Given the description of an element on the screen output the (x, y) to click on. 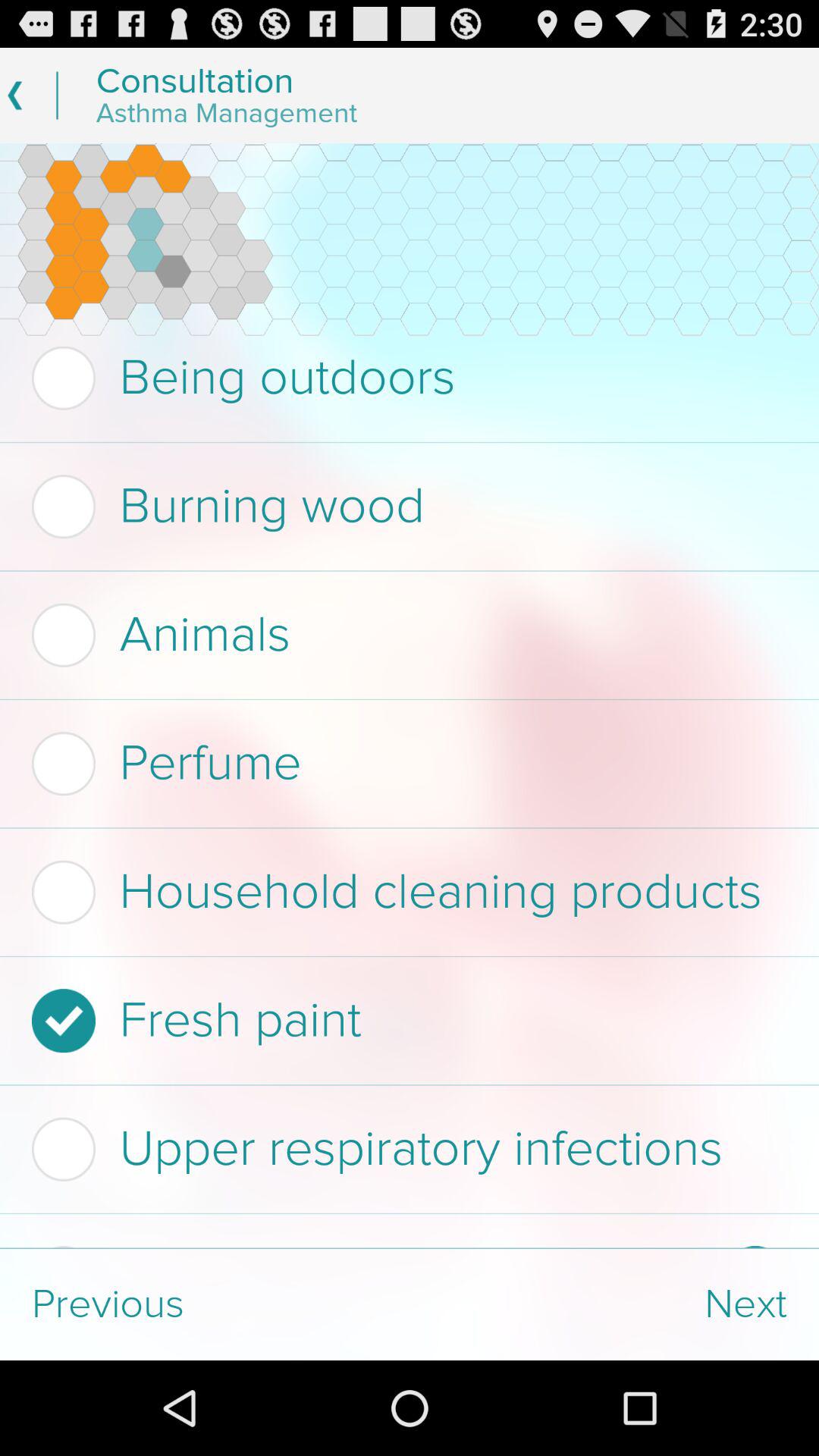
click item below fresh paint (405, 1149)
